Given the description of an element on the screen output the (x, y) to click on. 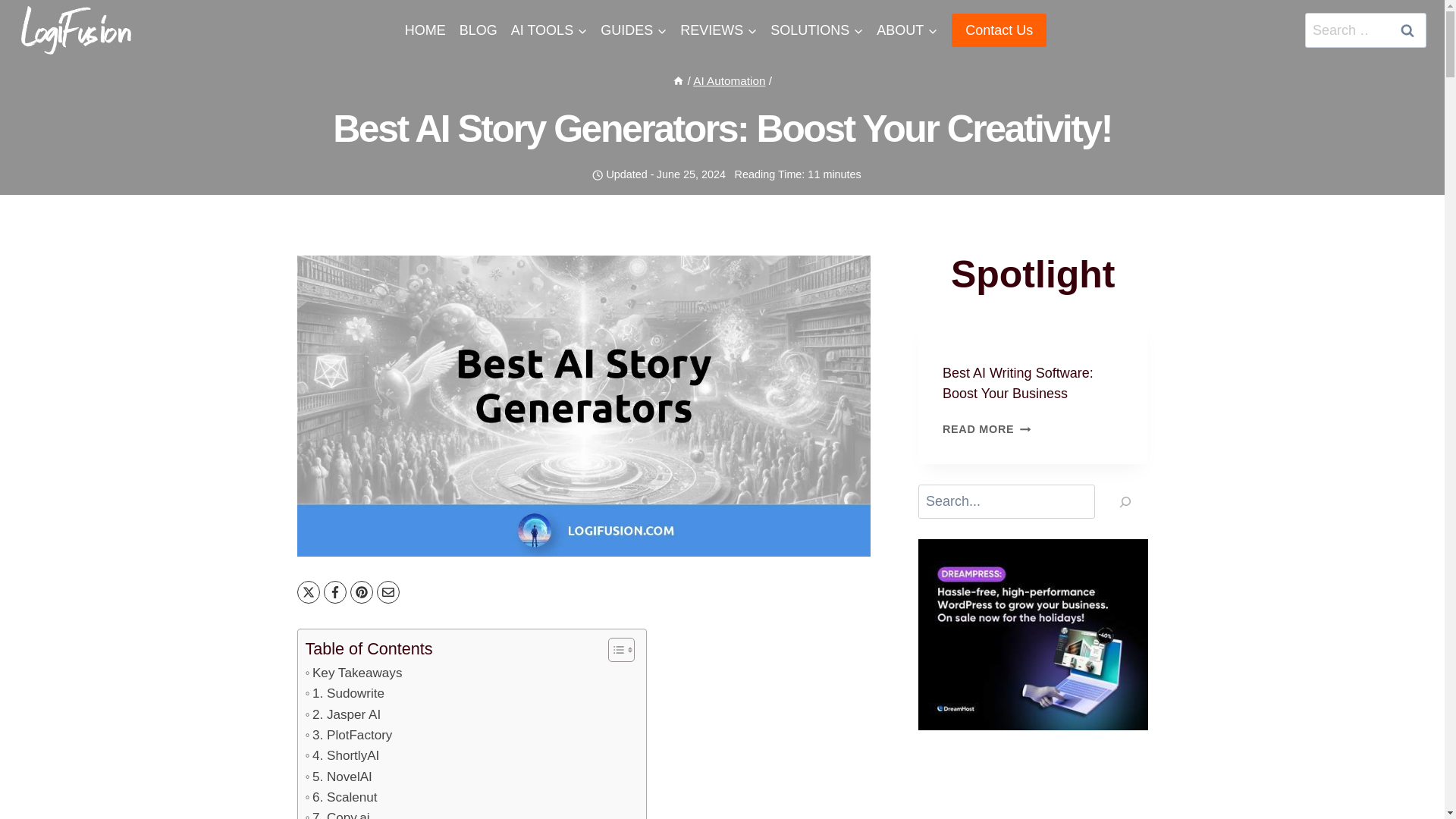
AI TOOLS (548, 29)
Search (1407, 29)
BLOG (477, 29)
3. PlotFactory (347, 734)
6. Scalenut (340, 797)
7. Copy.ai (336, 813)
2. Jasper AI (342, 714)
1. Sudowrite (344, 693)
Search (1407, 29)
Key Takeaways (352, 672)
